Given the description of an element on the screen output the (x, y) to click on. 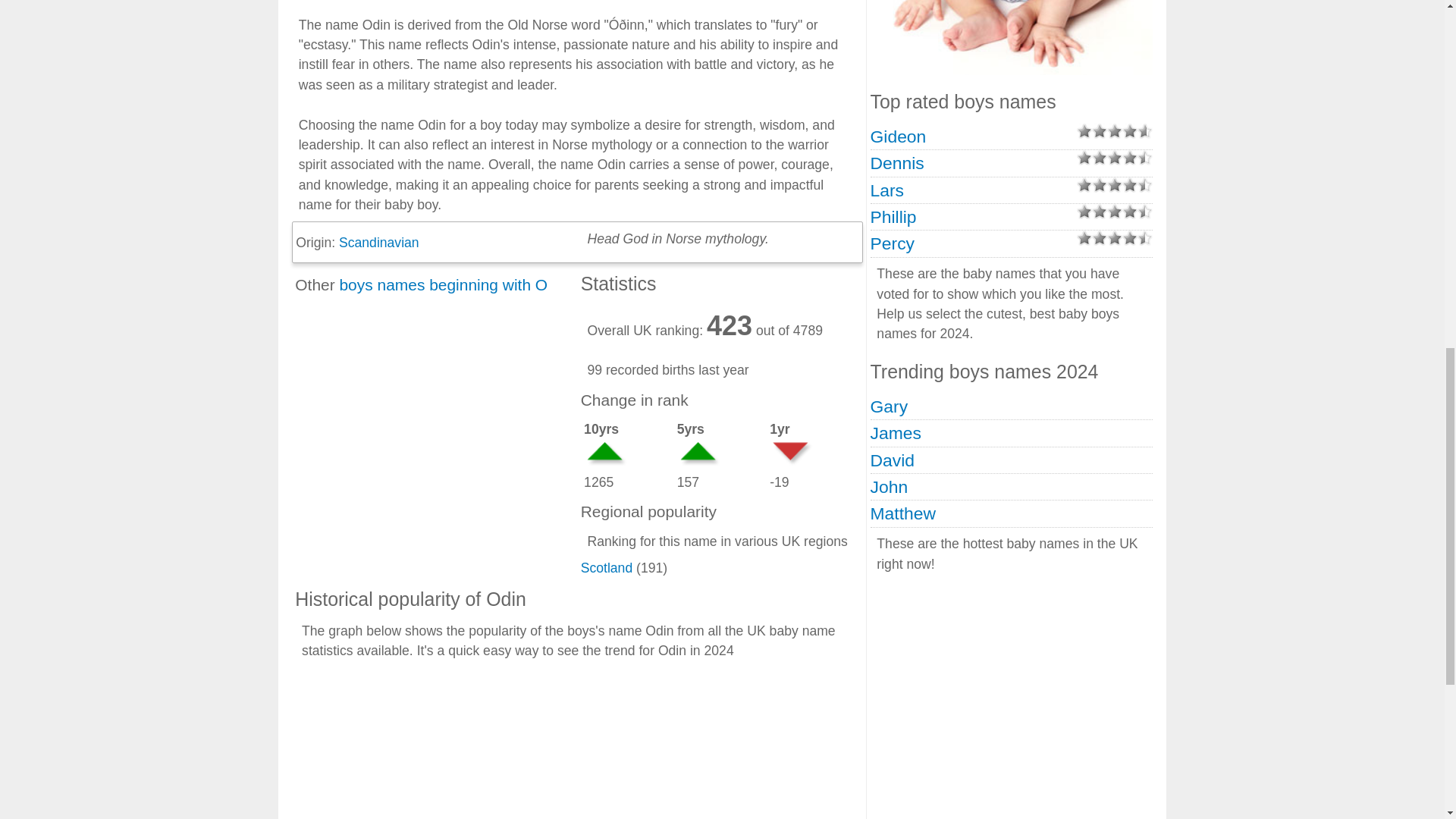
David (892, 460)
Gary (889, 406)
James (895, 433)
Phillip (893, 216)
boys names beginning with O (443, 284)
Scotland (605, 567)
Dennis (897, 162)
Matthew (903, 513)
Scandinavian (379, 242)
John (889, 486)
